Given the description of an element on the screen output the (x, y) to click on. 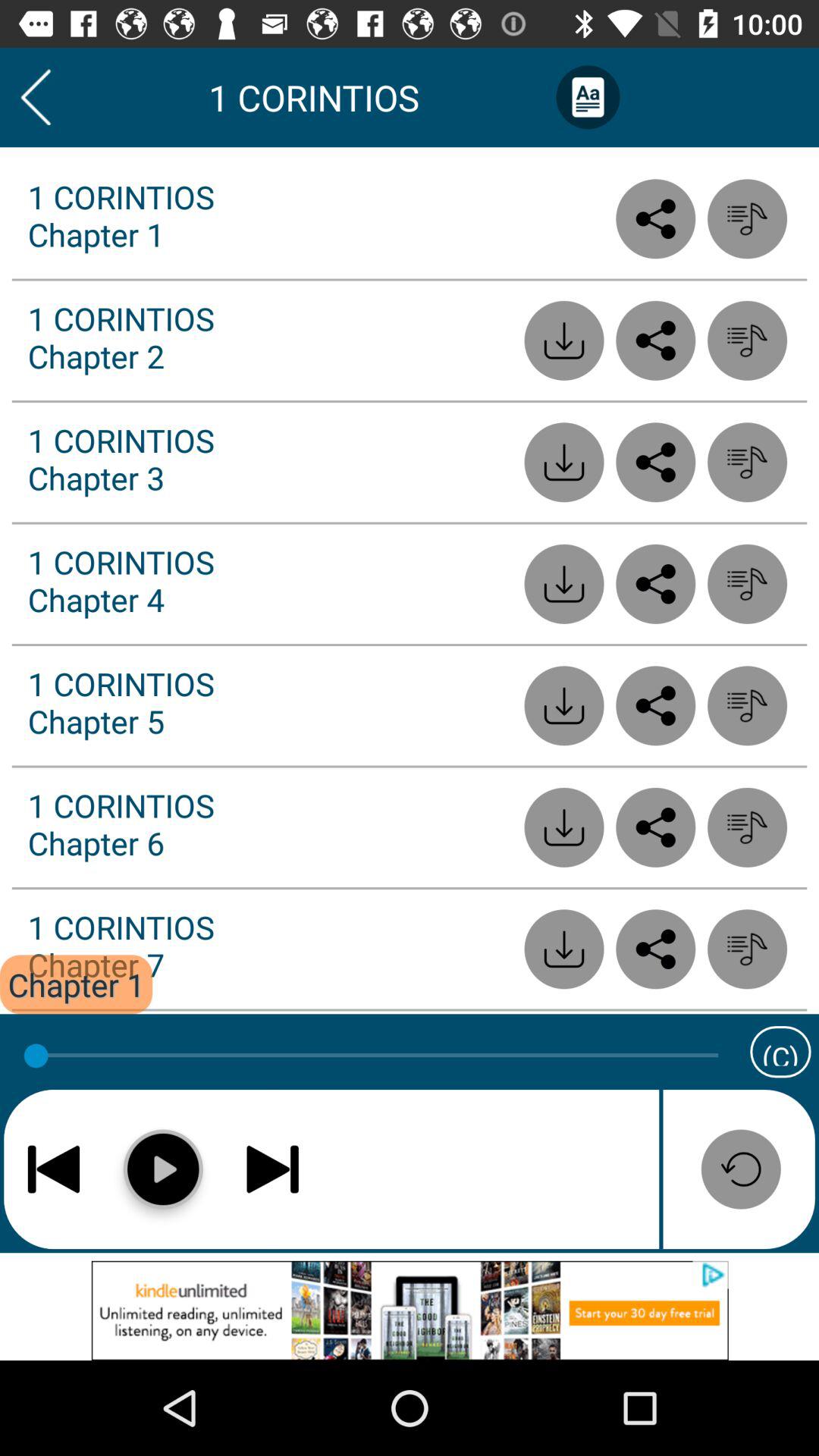
share 1 corintios chapter 6 (655, 827)
